Given the description of an element on the screen output the (x, y) to click on. 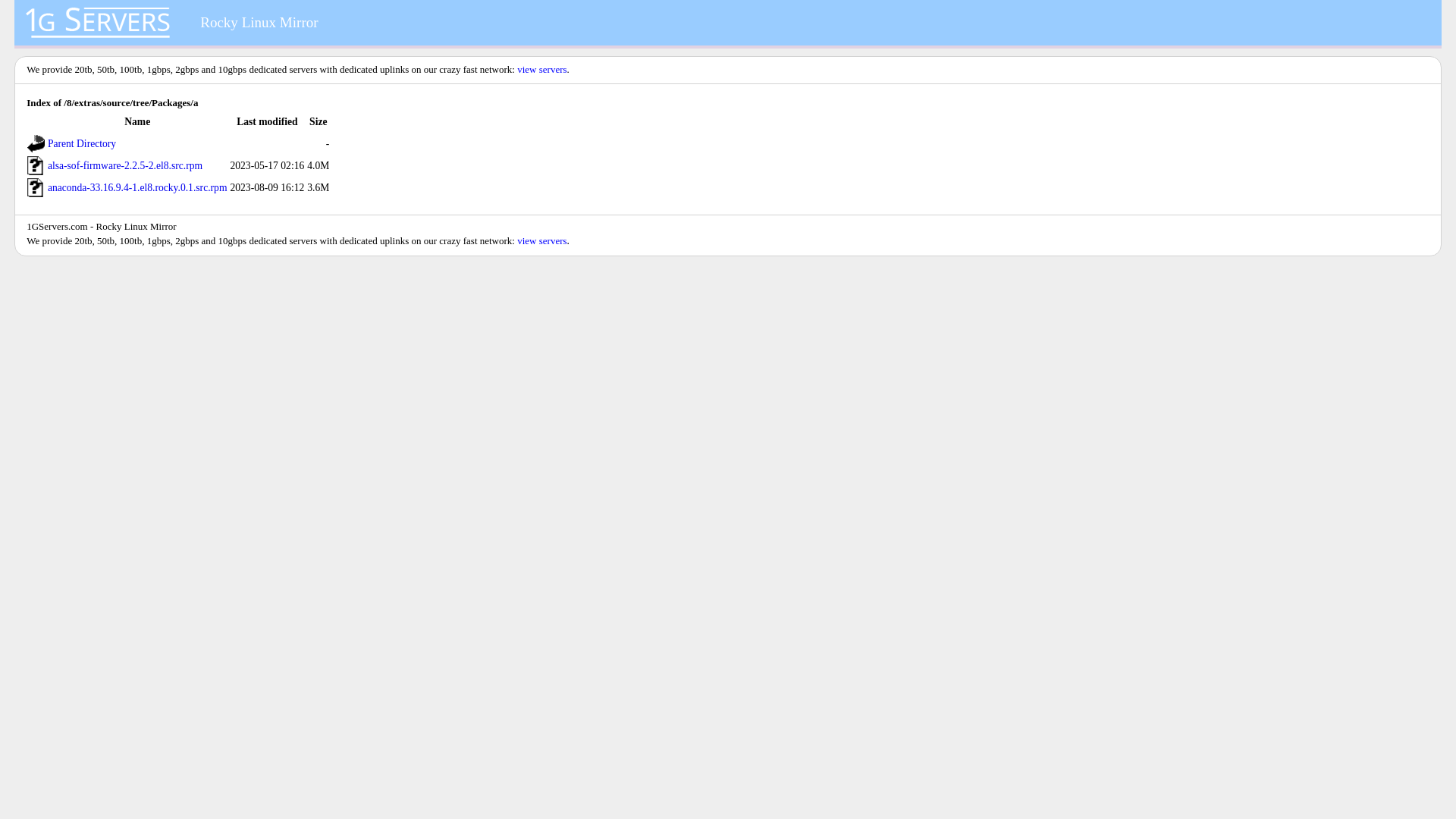
1GServers.com Element type: text (56, 226)
alsa-sof-firmware-2.2.5-2.el8.src.rpm Element type: text (124, 165)
anaconda-33.16.9.4-1.el8.rocky.0.1.src.rpm Element type: text (137, 187)
view servers Element type: text (541, 69)
view servers Element type: text (541, 240)
Parent Directory Element type: text (81, 143)
Rocky Linux Mirror Element type: text (258, 22)
